Given the description of an element on the screen output the (x, y) to click on. 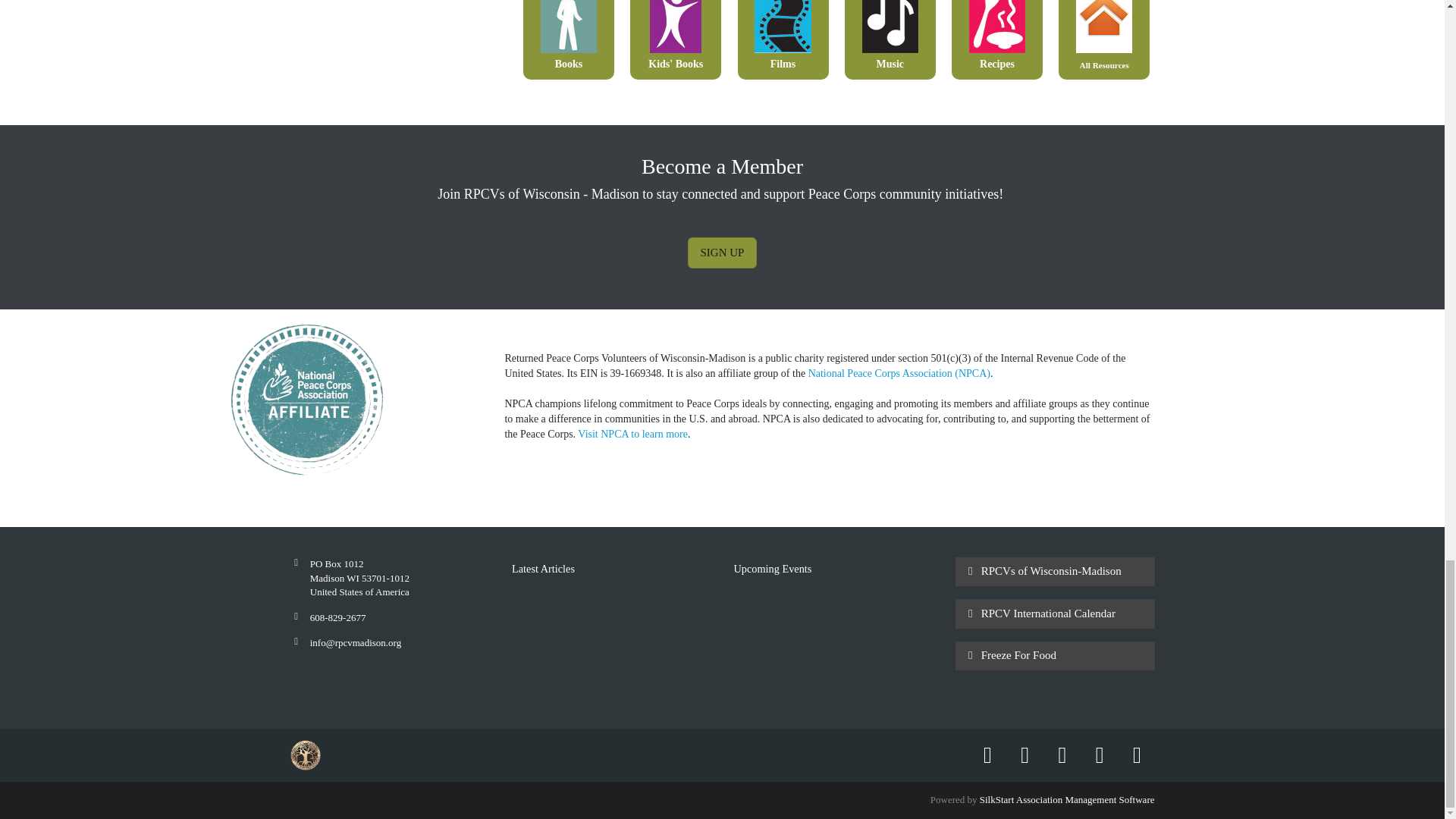
This external link will open in a new window (899, 373)
Sign Up (722, 253)
